Given the description of an element on the screen output the (x, y) to click on. 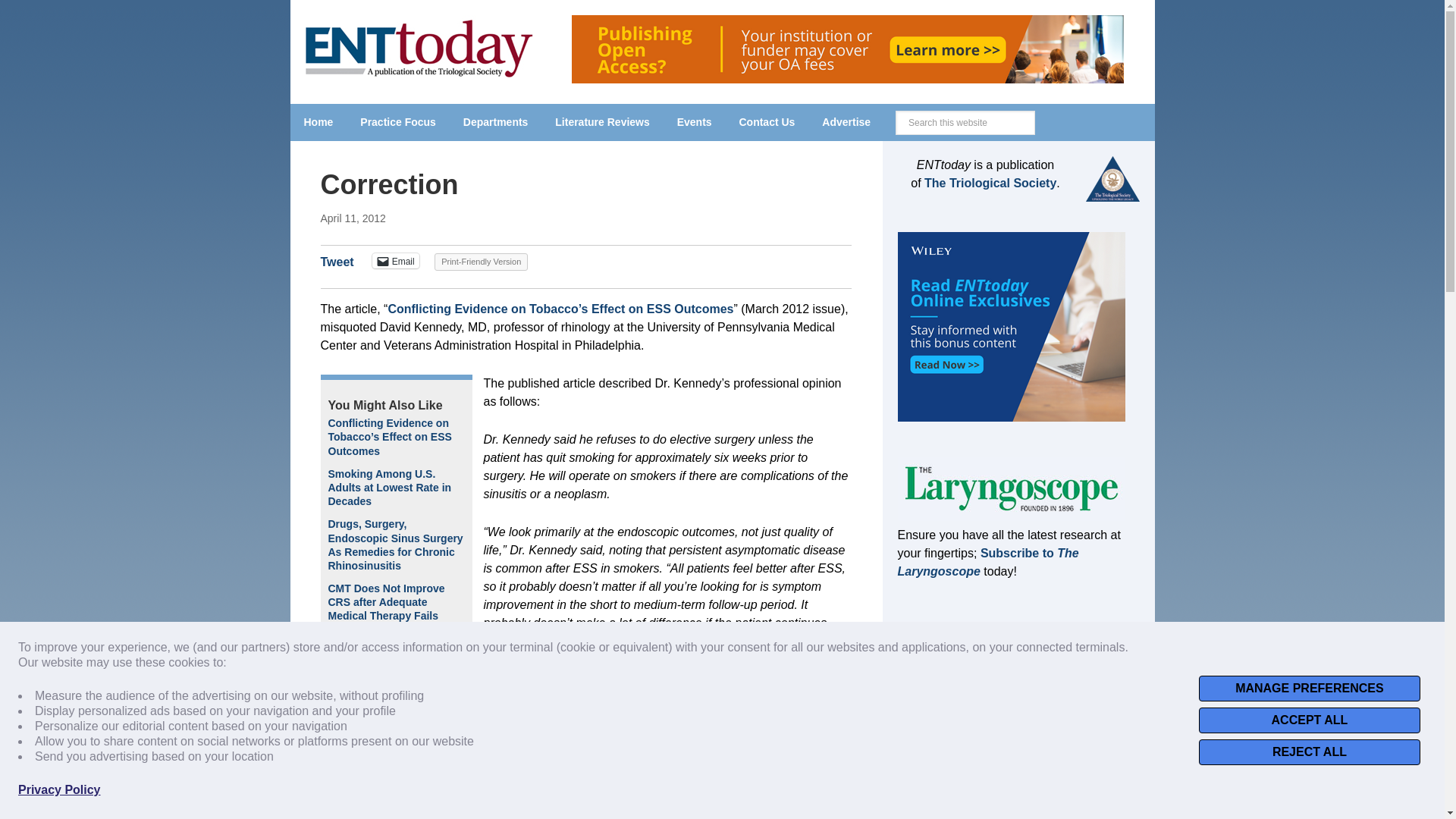
ENTtoday (418, 72)
Privacy Policy (58, 789)
Departments (495, 122)
ACCEPT ALL (1309, 720)
Search (1045, 115)
MANAGE PREFERENCES (1309, 688)
ENTtoday (418, 45)
Home (317, 122)
Click to email a link to a friend (395, 260)
REJECT ALL (1309, 751)
Practice Focus (397, 122)
Search (1045, 115)
